Given the description of an element on the screen output the (x, y) to click on. 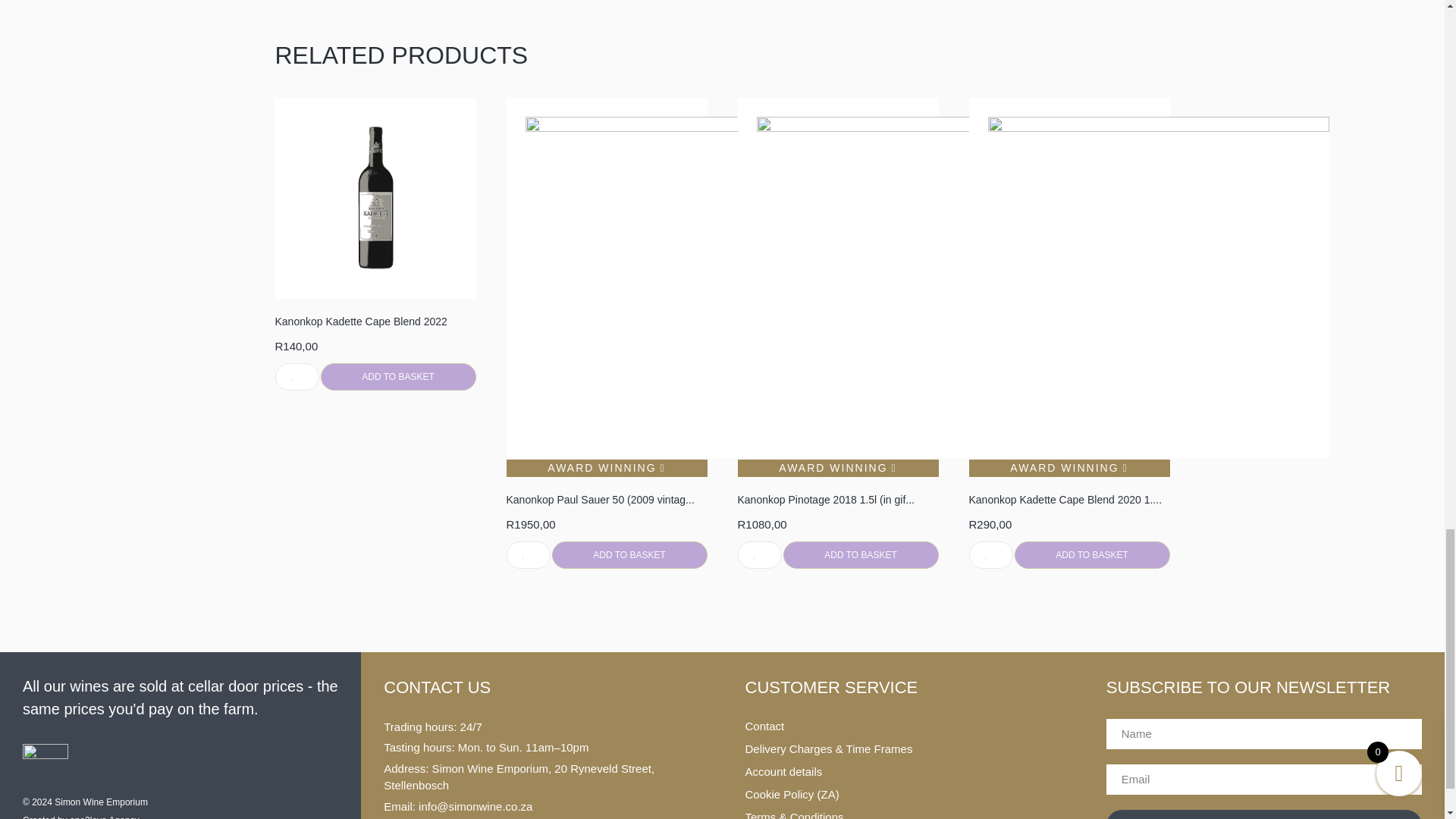
1 (296, 376)
1 (528, 554)
Kanonkop Kadette Cape Blend 2022 (375, 321)
1 (758, 554)
1 (991, 554)
